Given the description of an element on the screen output the (x, y) to click on. 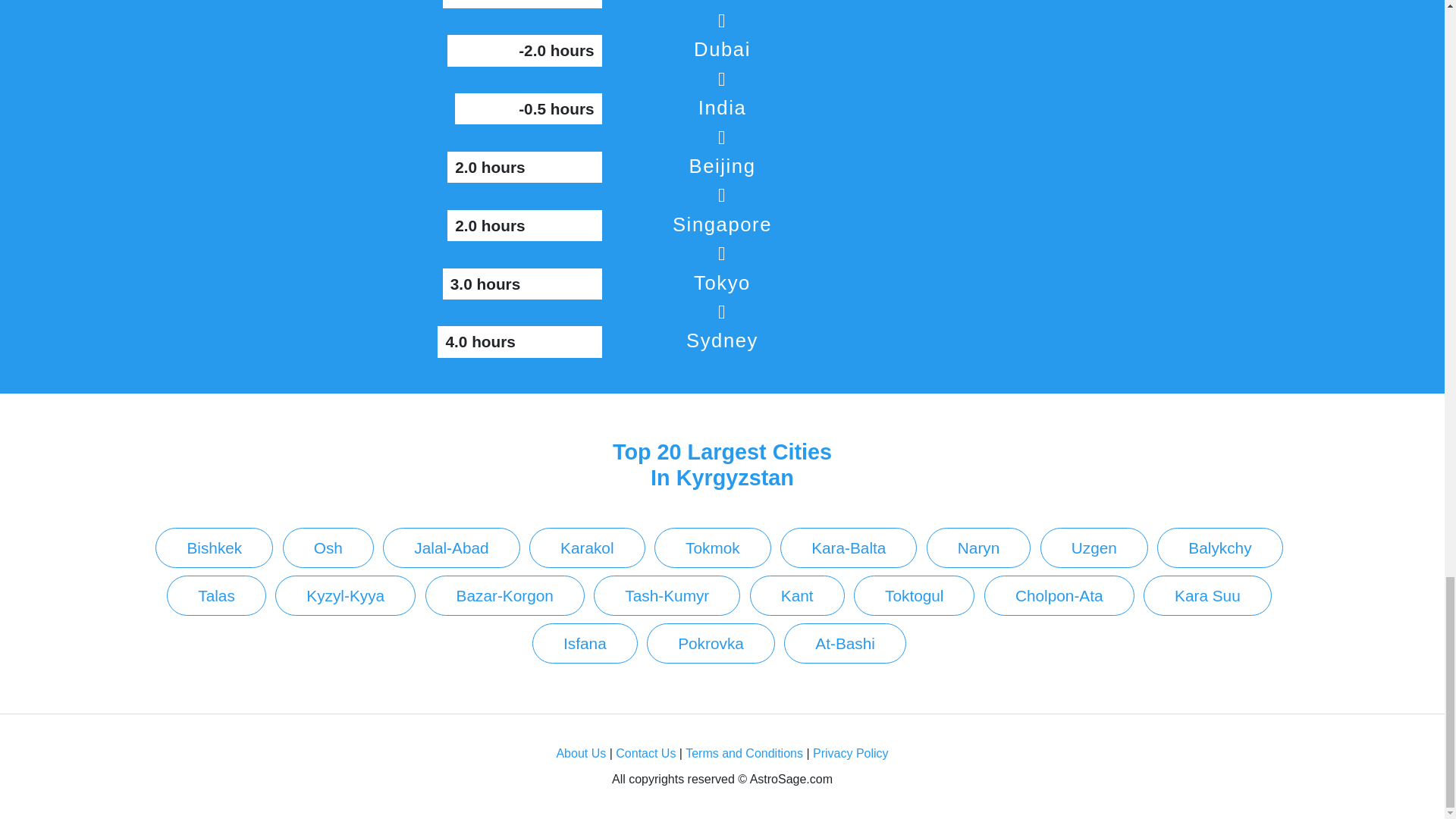
Naryn (978, 547)
Jalal-Abad (450, 547)
Balykchy (1219, 547)
Uzgen (1094, 547)
Karakol (587, 547)
Bishkek (214, 547)
Talas (216, 595)
Tokmok (712, 547)
Kara-Balta (848, 547)
Osh (328, 547)
